Given the description of an element on the screen output the (x, y) to click on. 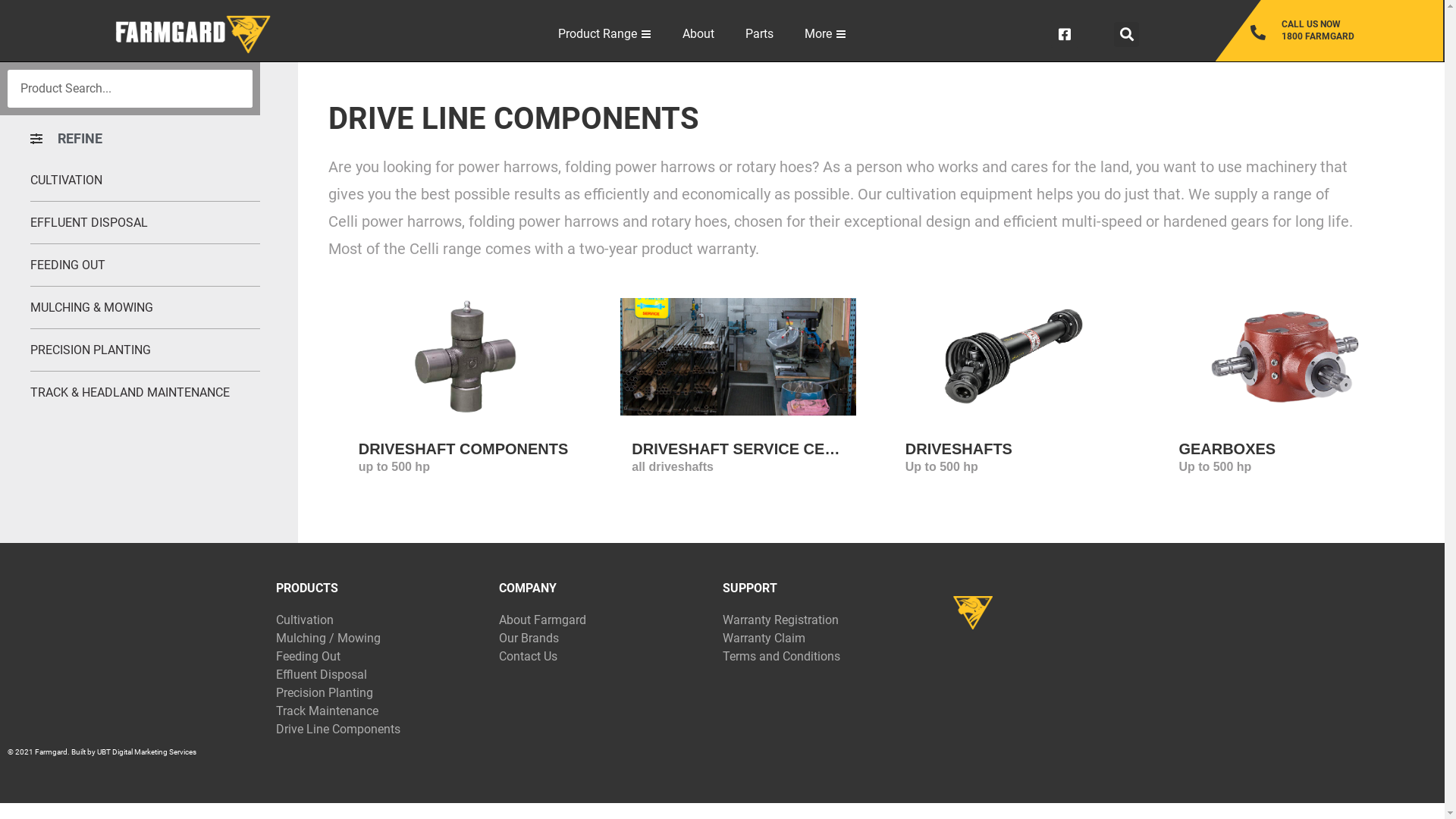
Warranty Registration Element type: text (825, 620)
About Farmgard Element type: text (602, 620)
Feeding Out Element type: text (380, 656)
Drive Line Components Element type: text (380, 729)
Precision Planting Element type: text (380, 693)
Mulching / Mowing Element type: text (380, 638)
PRECISION PLANTING Element type: text (145, 350)
More Element type: text (825, 33)
Parts Element type: text (759, 33)
Terms and Conditions Element type: text (825, 656)
Contact Us Element type: text (602, 656)
Our Brands Element type: text (602, 638)
CALL US NOW
1800 FARMGARD Element type: text (1345, 30)
Effluent Disposal Element type: text (380, 674)
EFFLUENT DISPOSAL Element type: text (145, 222)
Warranty Claim Element type: text (825, 638)
Product Range Element type: text (604, 33)
About Element type: text (698, 33)
Cultivation Element type: text (380, 620)
CULTIVATION Element type: text (145, 180)
FEEDING OUT Element type: text (145, 265)
TRACK & HEADLAND MAINTENANCE Element type: text (145, 392)
MULCHING & MOWING Element type: text (145, 307)
Track Maintenance Element type: text (380, 711)
